Given the description of an element on the screen output the (x, y) to click on. 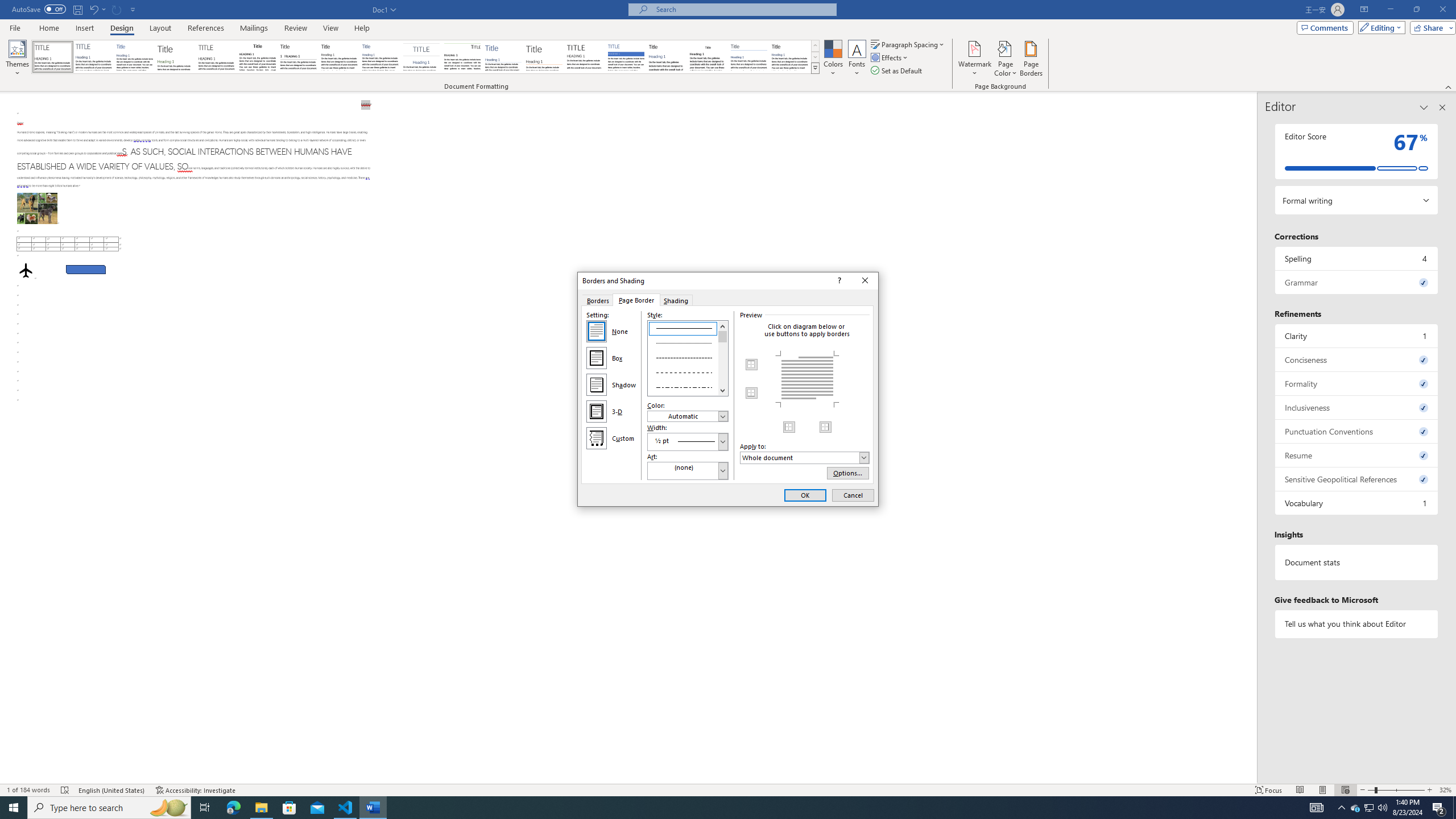
Apply to: (804, 457)
None (596, 331)
MSO Generic Control Container (751, 364)
Fonts (856, 58)
Tell us what you think about Editor (1356, 624)
Formality, 0 issues. Press space or enter to review items. (1356, 383)
Box (596, 358)
Colors (832, 58)
Casual (379, 56)
Document statistics (1356, 561)
Undo Paragraph Alignment (92, 9)
AutomationID: 37 (722, 358)
